Given the description of an element on the screen output the (x, y) to click on. 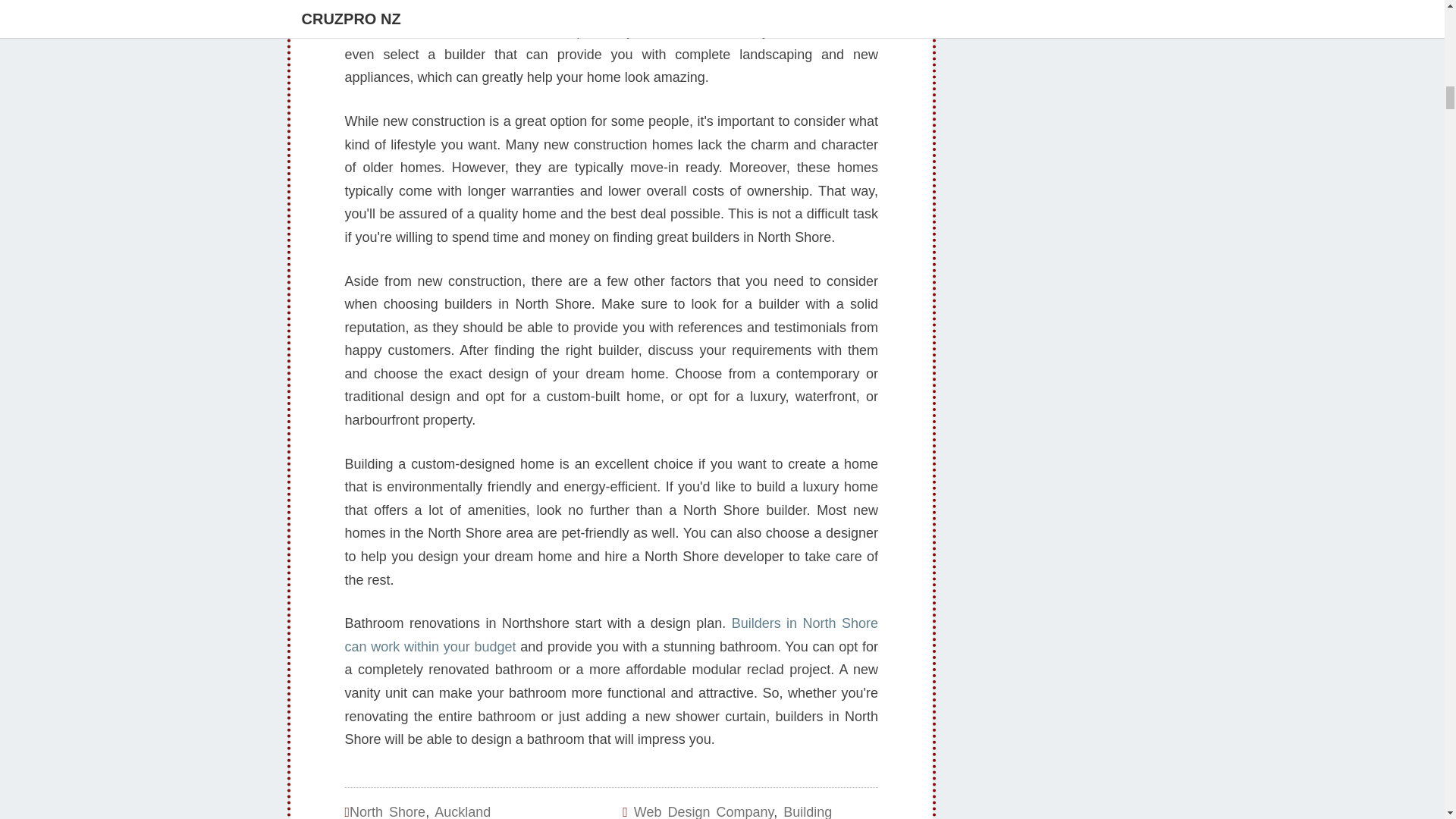
Builders in North Shore can work within your budget (610, 634)
North Shore (387, 811)
Auckland (461, 811)
Building Company (727, 811)
Web Design Company (703, 811)
